Given the description of an element on the screen output the (x, y) to click on. 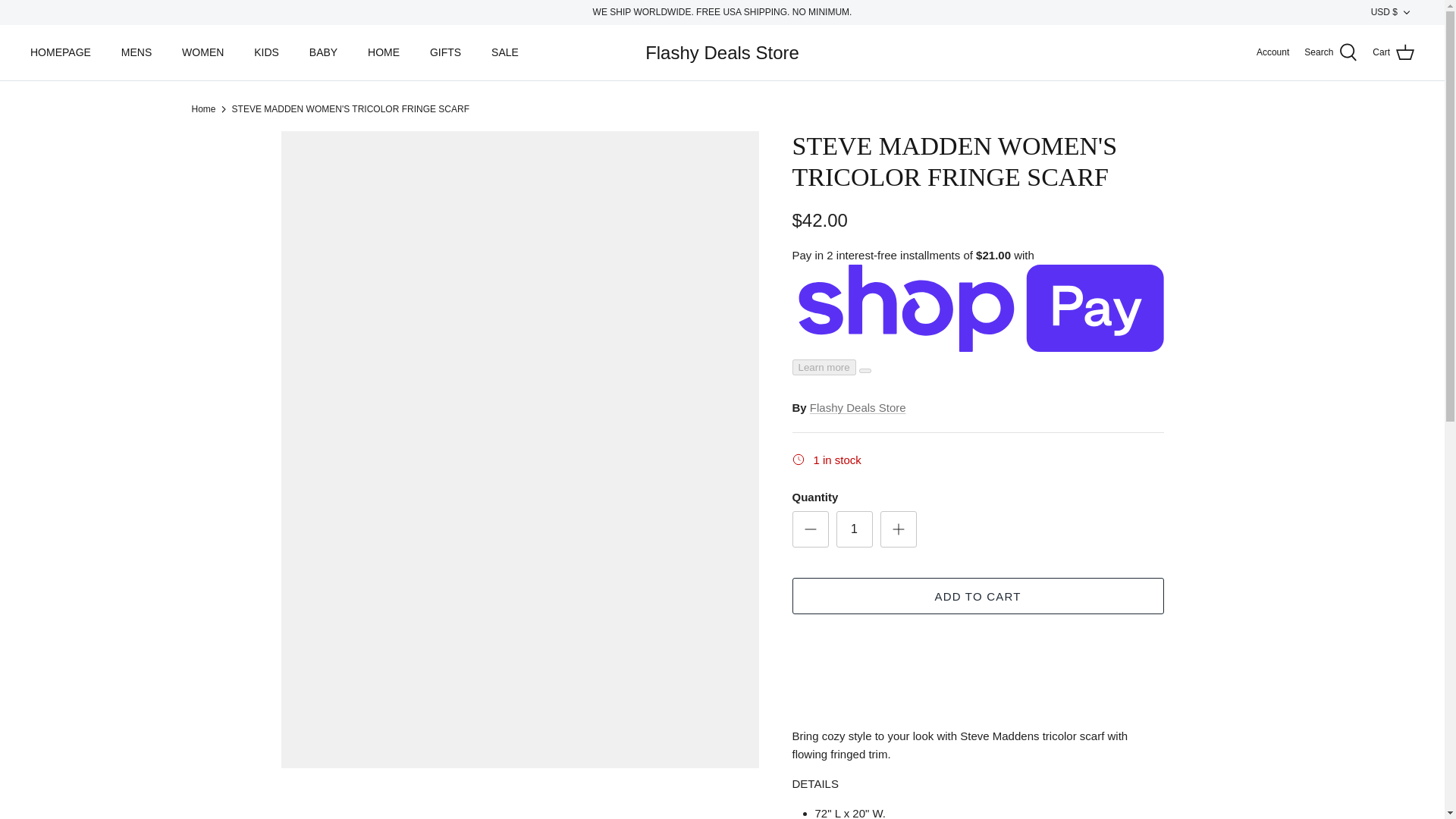
1 (853, 529)
Down (1406, 12)
Flashy Deals Store (722, 53)
Plus (897, 529)
Minus (809, 529)
